Given the description of an element on the screen output the (x, y) to click on. 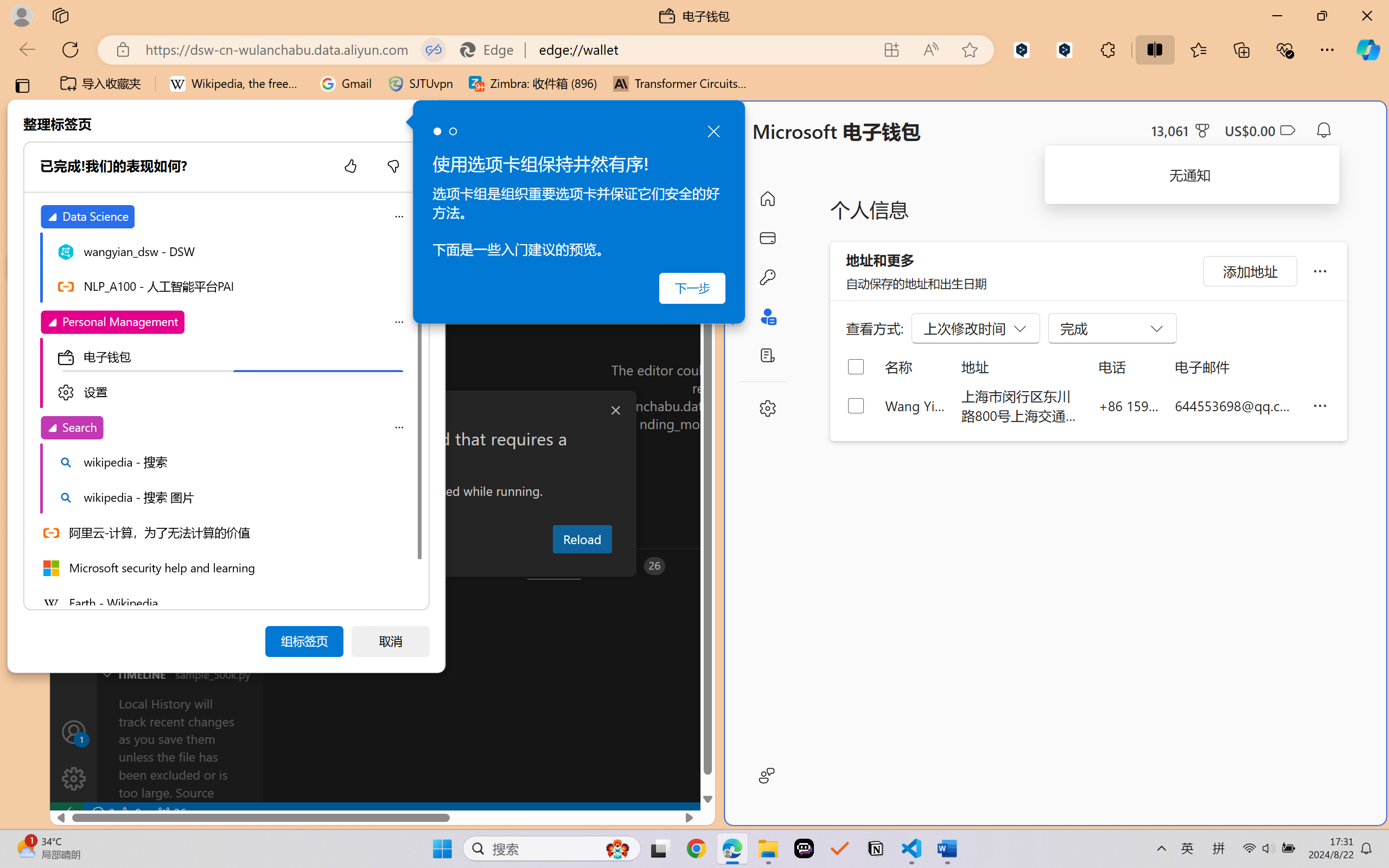
Timeline Section (179, 673)
Application Menu (73, 194)
Debug Console (Ctrl+Shift+Y) (463, 565)
Search (Ctrl+Shift+F) (73, 281)
Google Chrome (696, 848)
Run and Debug (Ctrl+Shift+D) (73, 375)
Accounts - Sign in requested (73, 732)
